Given the description of an element on the screen output the (x, y) to click on. 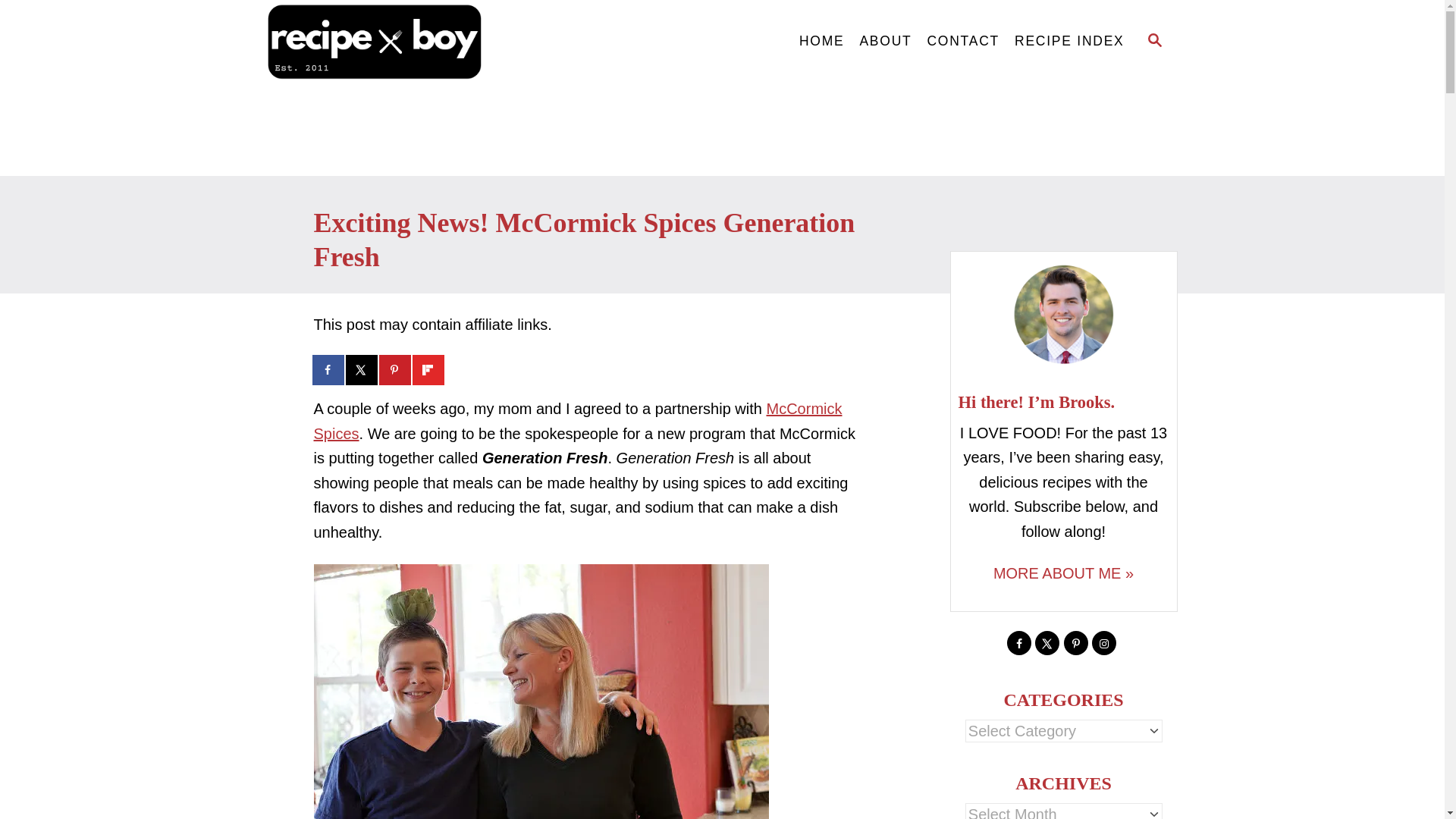
Share on Flipboard (428, 369)
Follow on X (1047, 642)
Save to Pinterest (395, 369)
RecipeBoy (403, 41)
McCormick Spices (578, 421)
Share on X (362, 369)
CONTACT (962, 41)
HOME (821, 41)
Follow on Facebook (1018, 642)
Share on Facebook (328, 369)
Brooks and Lori in the Kitchen (541, 691)
ABOUT (884, 41)
SEARCH (1153, 40)
RECIPE INDEX (1069, 41)
